Given the description of an element on the screen output the (x, y) to click on. 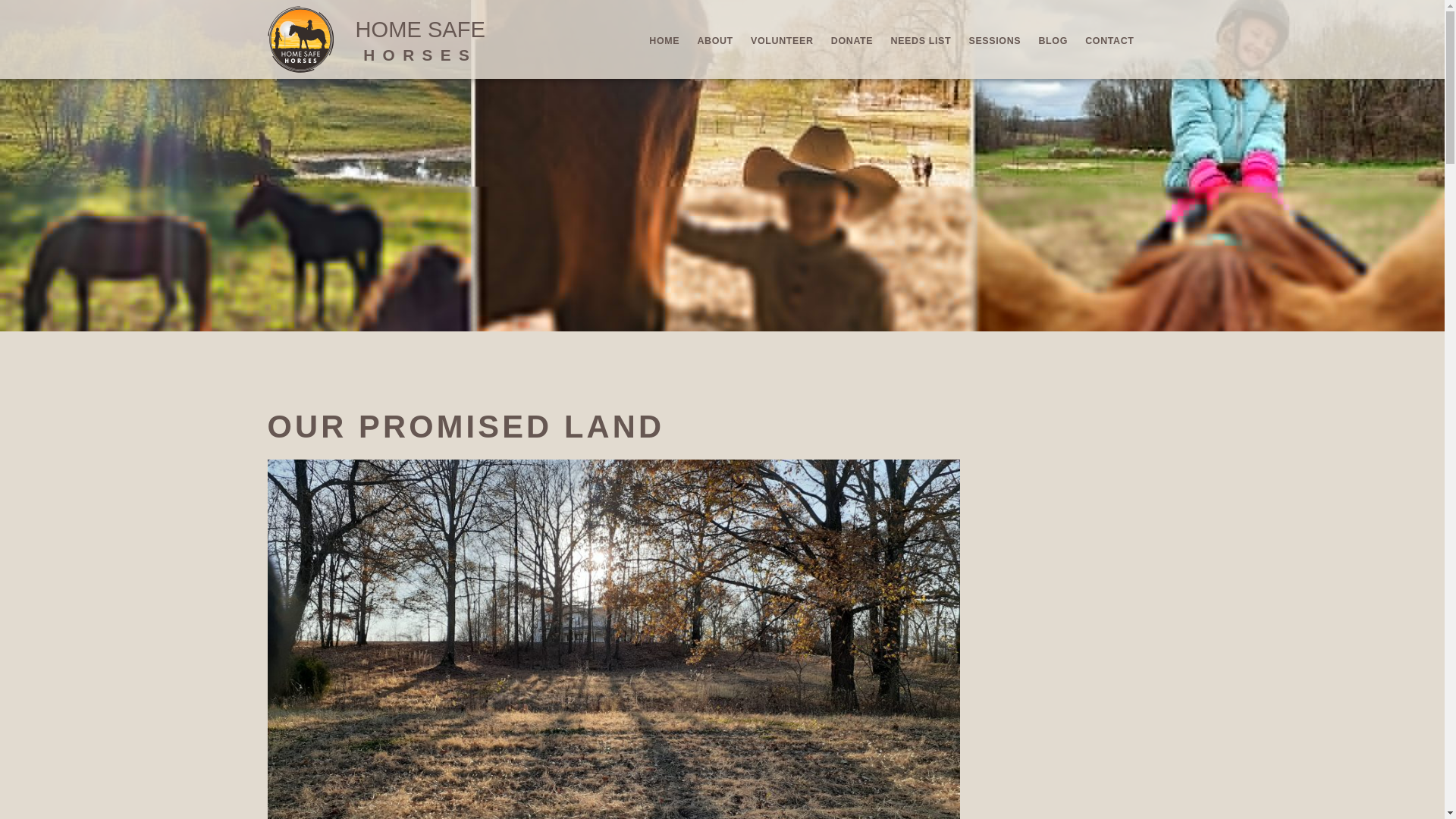
HOME (419, 26)
FACEBOOK (664, 31)
BLOG (1162, 33)
NEEDS LIST (1052, 37)
ABOUT (921, 35)
CONTACT (714, 32)
VOLUNTEER (1109, 38)
Home Safe Horses (782, 33)
SESSIONS (299, 67)
